Given the description of an element on the screen output the (x, y) to click on. 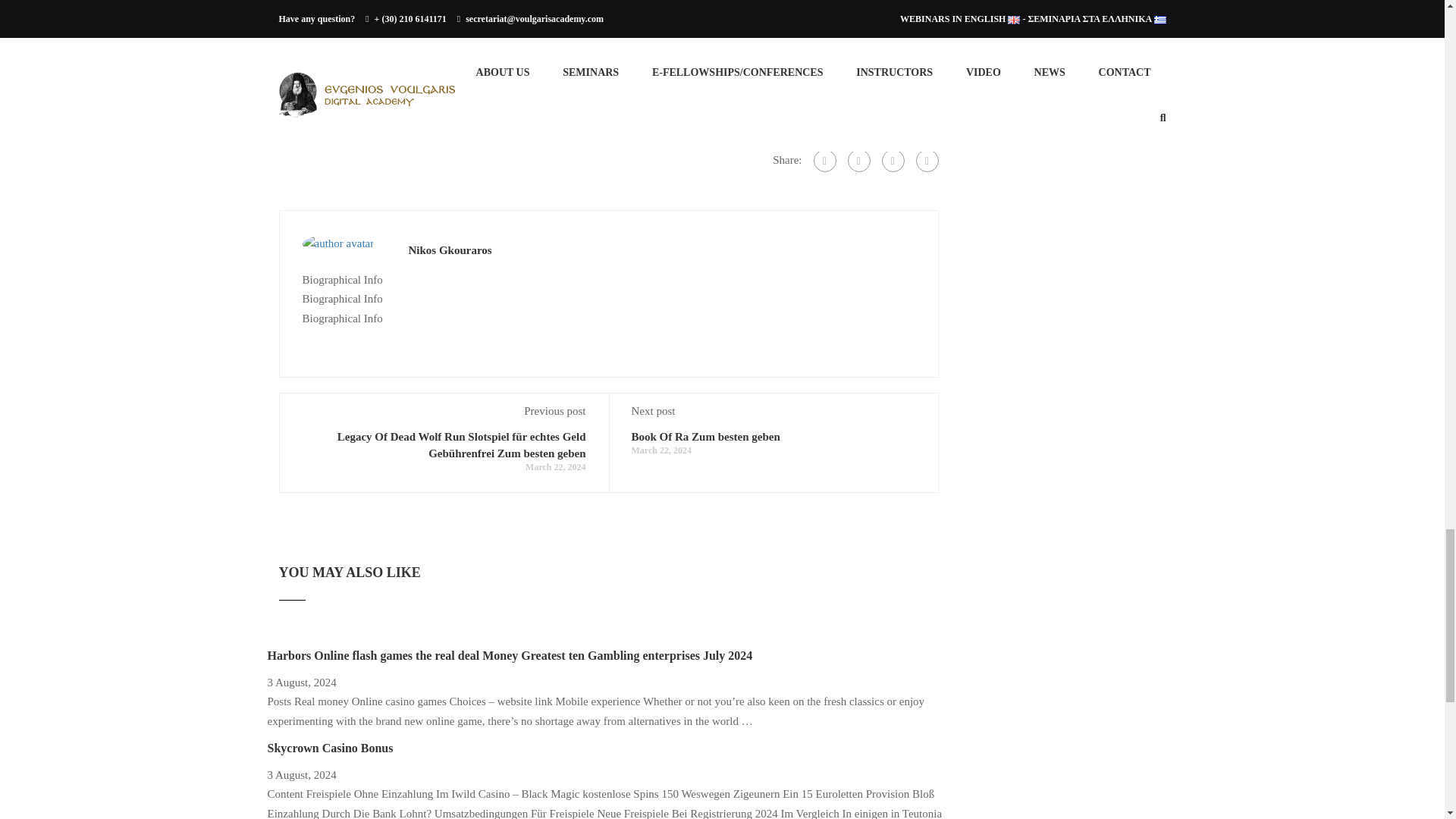
Skycrown Casino Bonus (329, 748)
Twitter (892, 160)
Facebook (823, 160)
Google Plus (858, 160)
Pinterest (927, 160)
Book Of Ra Zum besten geben (704, 436)
Nikos Gkouraros (449, 249)
Skycrown Casino Bonus (329, 748)
